Given the description of an element on the screen output the (x, y) to click on. 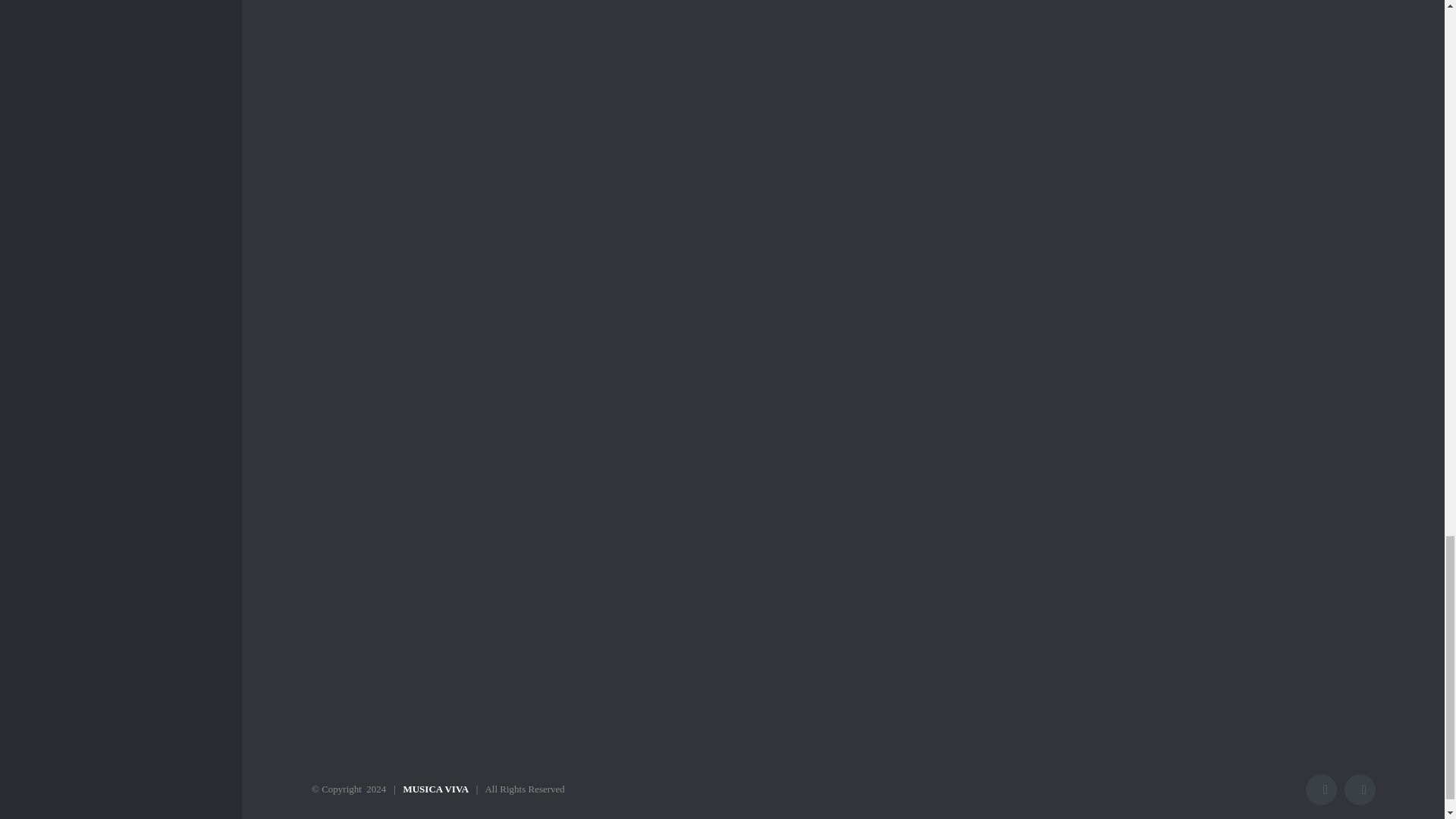
Vimeo (1359, 789)
Facebook (1321, 789)
Facebook (1321, 789)
Vimeo (1359, 789)
